Given the description of an element on the screen output the (x, y) to click on. 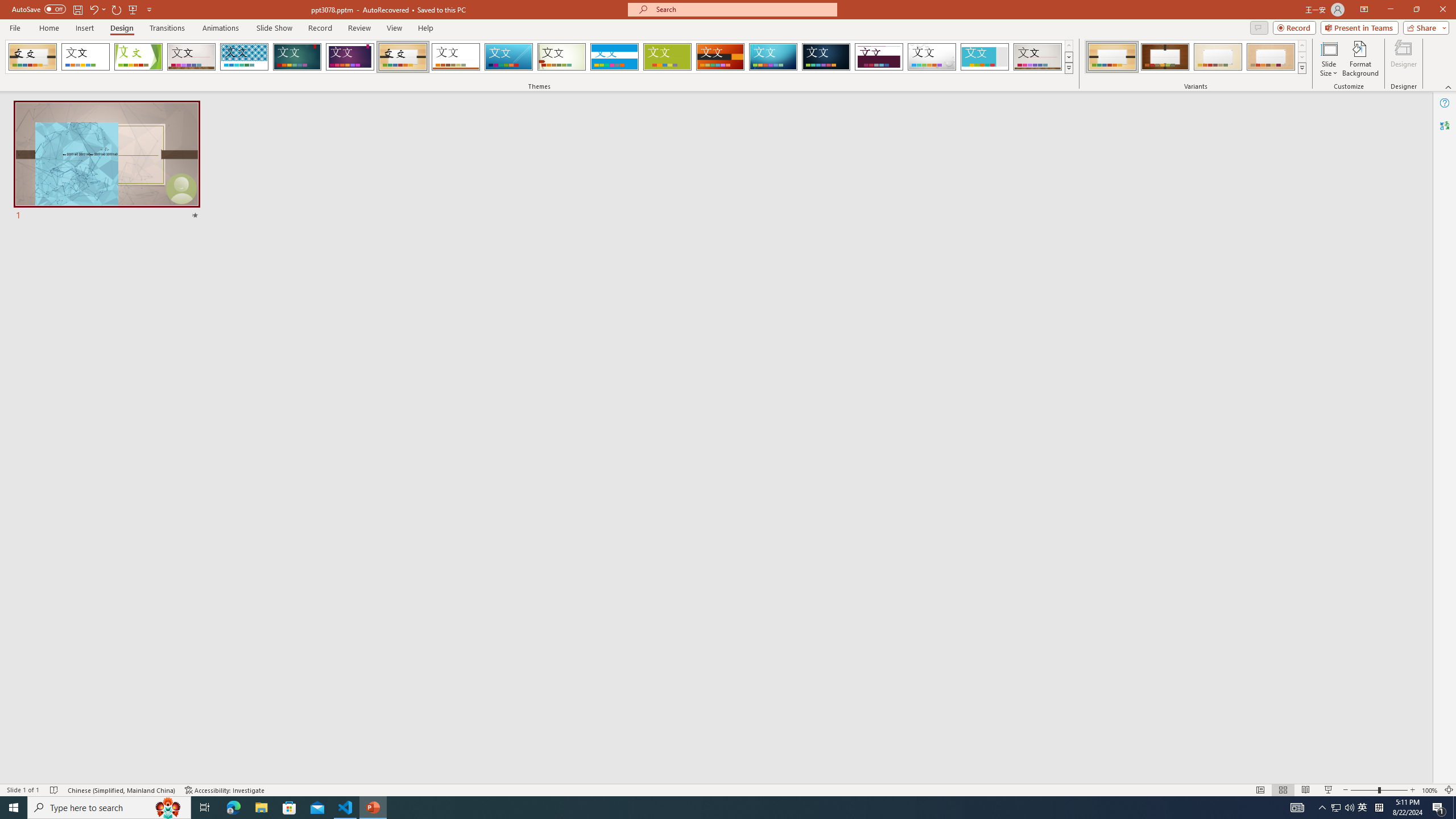
Droplet (931, 56)
Slice (508, 56)
Basis (667, 56)
Organic Variant 1 (1112, 56)
